Given the description of an element on the screen output the (x, y) to click on. 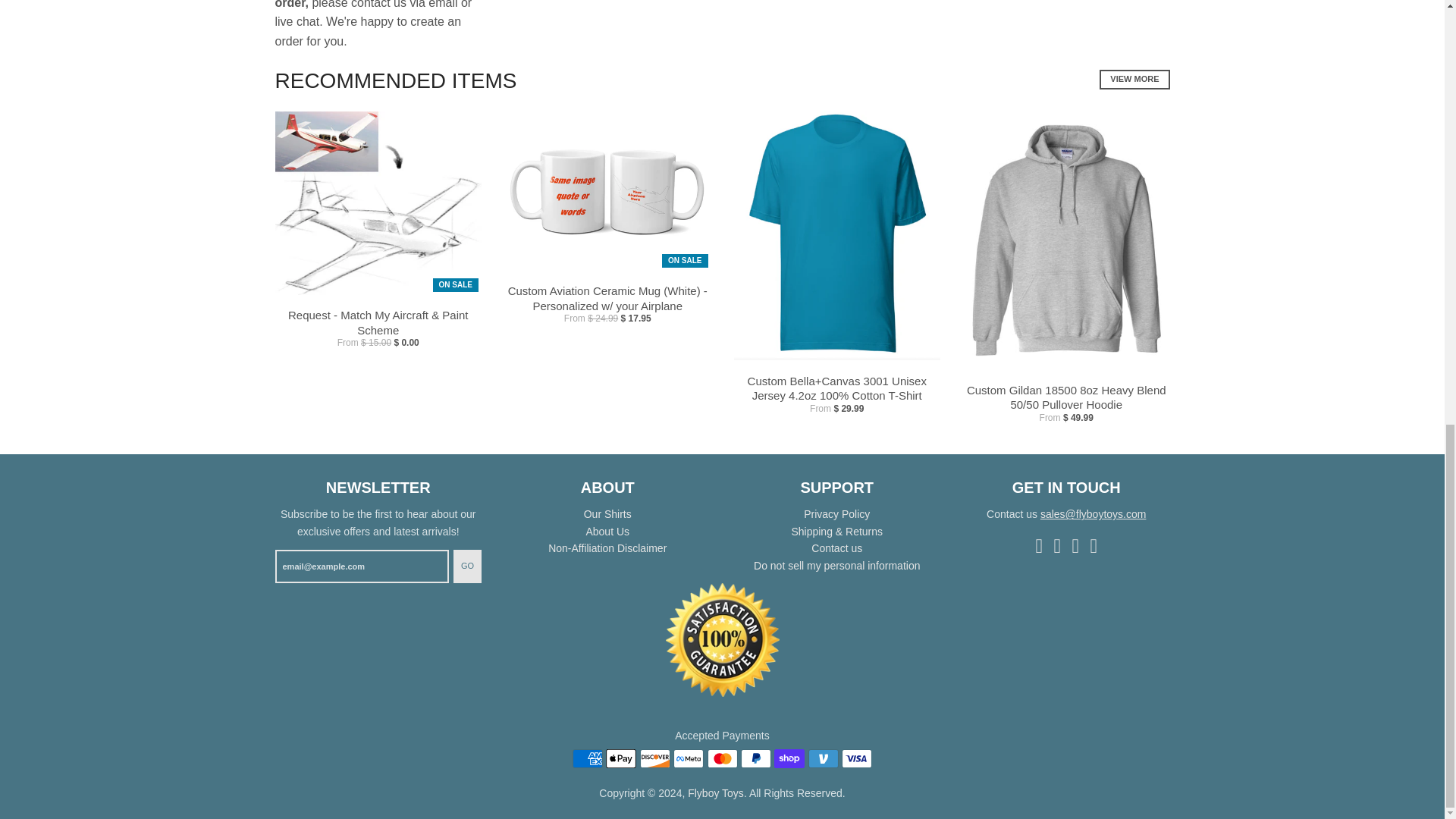
Flyboy Toys on Facebook (1038, 544)
Flyboy Toys on Pinterest (1074, 544)
Flyboy Toys on Twitter (1093, 544)
Flyboy Toys on Instagram (1056, 544)
